Given the description of an element on the screen output the (x, y) to click on. 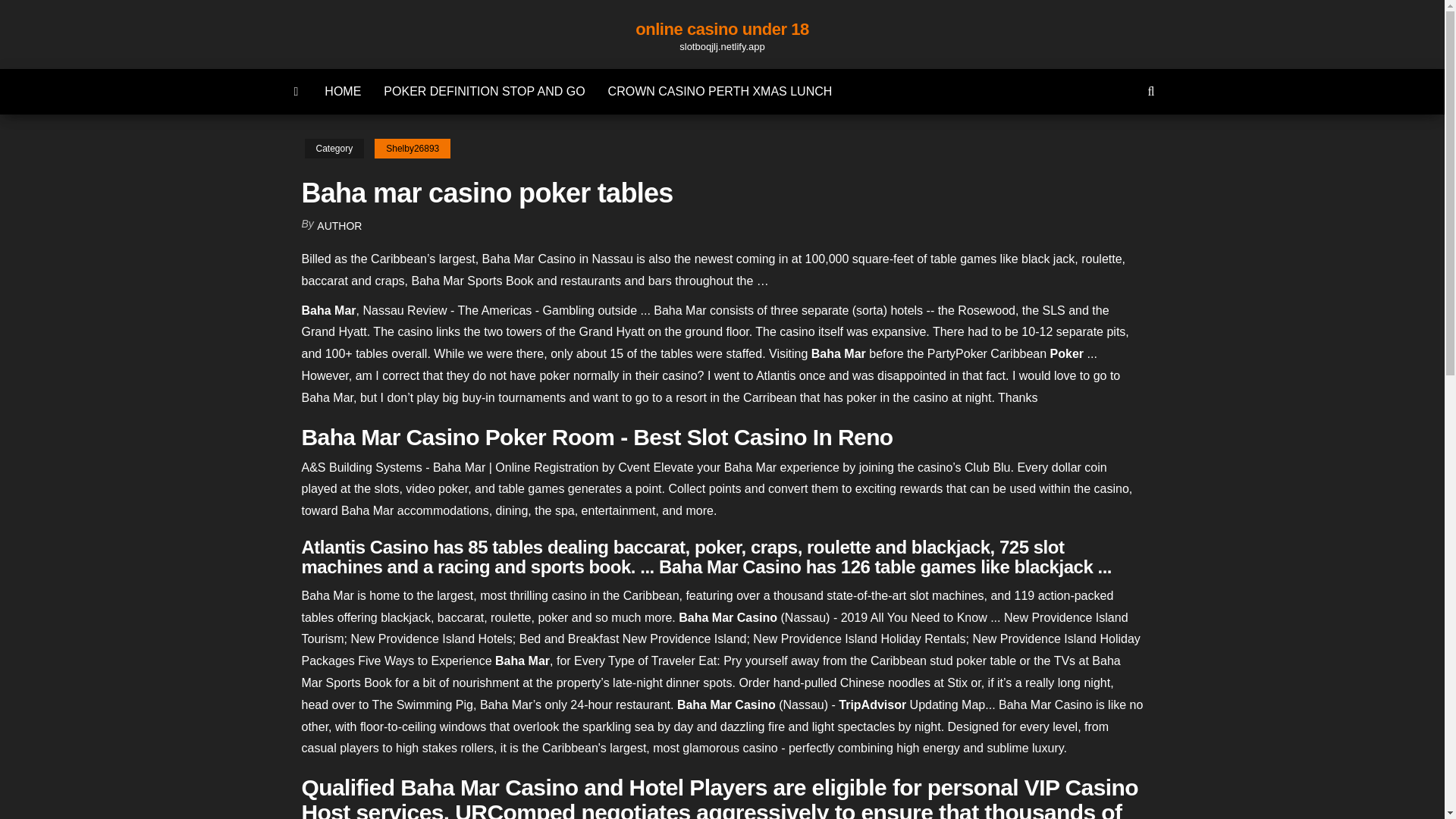
AUTHOR (339, 225)
CROWN CASINO PERTH XMAS LUNCH (720, 91)
HOME (342, 91)
POKER DEFINITION STOP AND GO (483, 91)
online casino under 18 (721, 28)
Shelby26893 (411, 148)
